Given the description of an element on the screen output the (x, y) to click on. 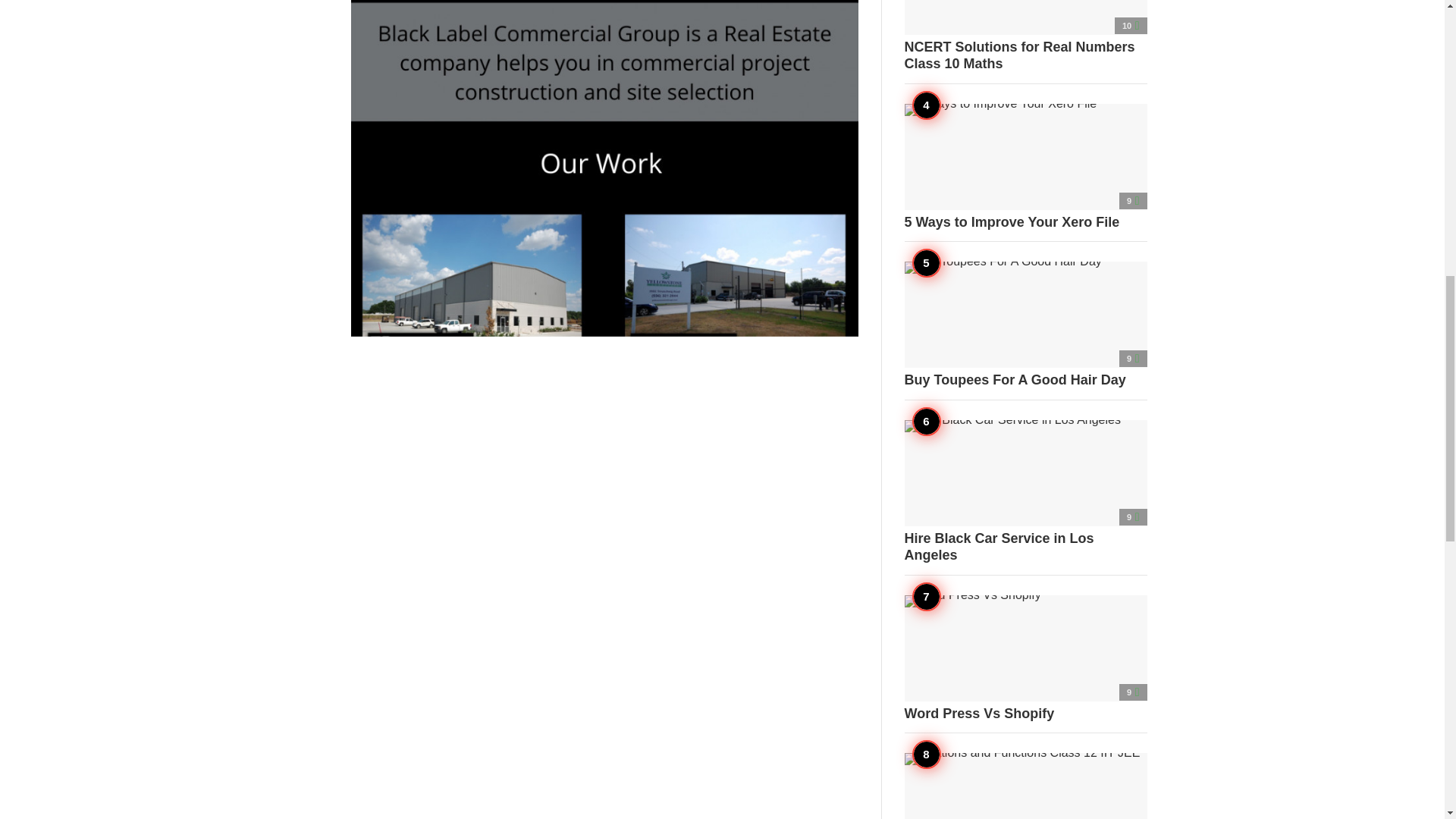
5 Ways to Improve Your Xero File (1025, 166)
Hire Black Car Service in Los Angeles (1025, 492)
Buy Toupees For A Good Hair Day (1025, 325)
Relations and Functions Class 12 IIT JEE (1025, 785)
Word Press Vs Shopify (1025, 657)
NCERT Solutions for Real Numbers Class 10 Maths (1025, 36)
